Given the description of an element on the screen output the (x, y) to click on. 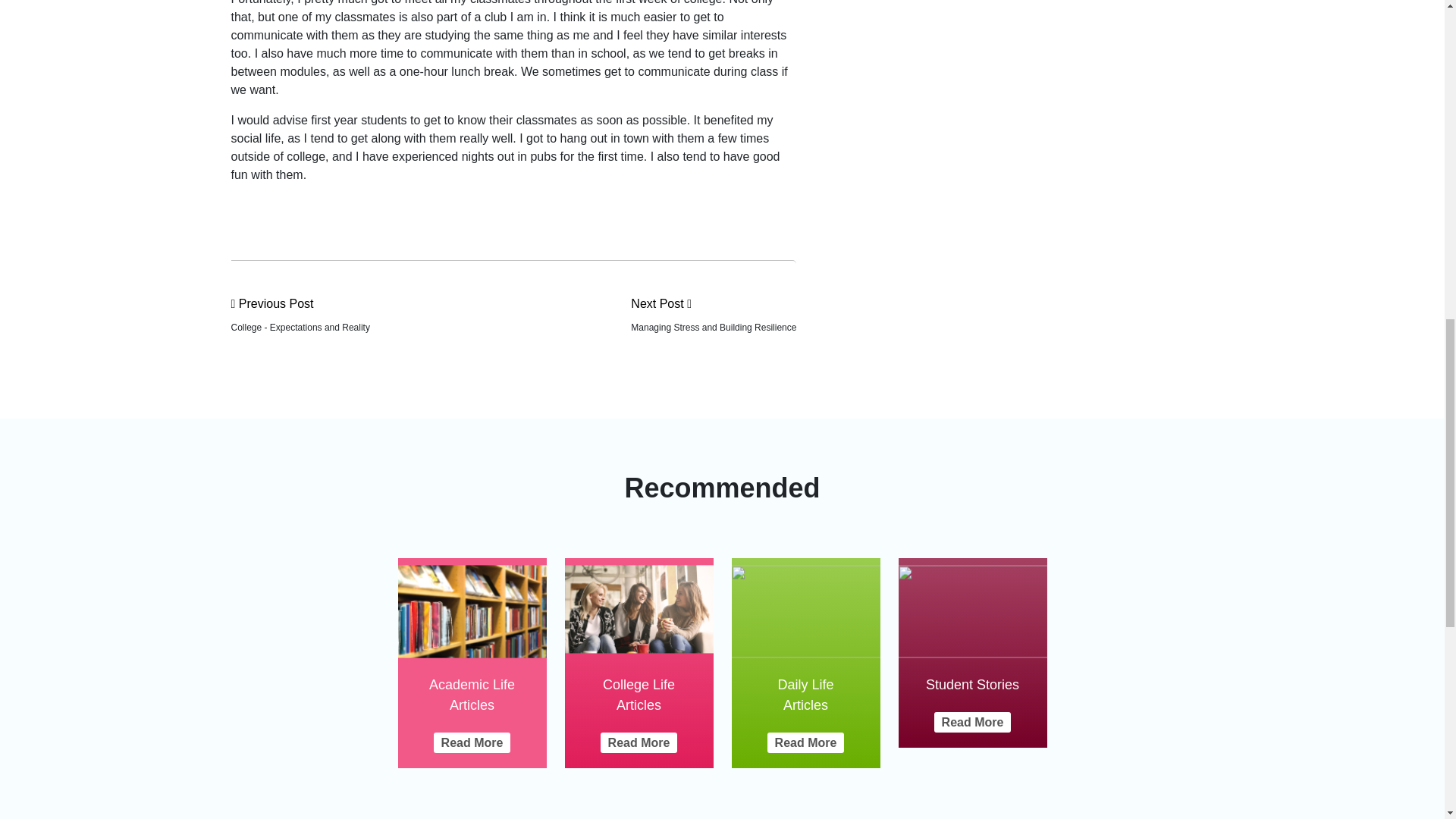
Read More (972, 721)
Read More (805, 742)
Next Post (713, 303)
Read More (472, 742)
Read More (638, 742)
Previous Post (299, 303)
